Given the description of an element on the screen output the (x, y) to click on. 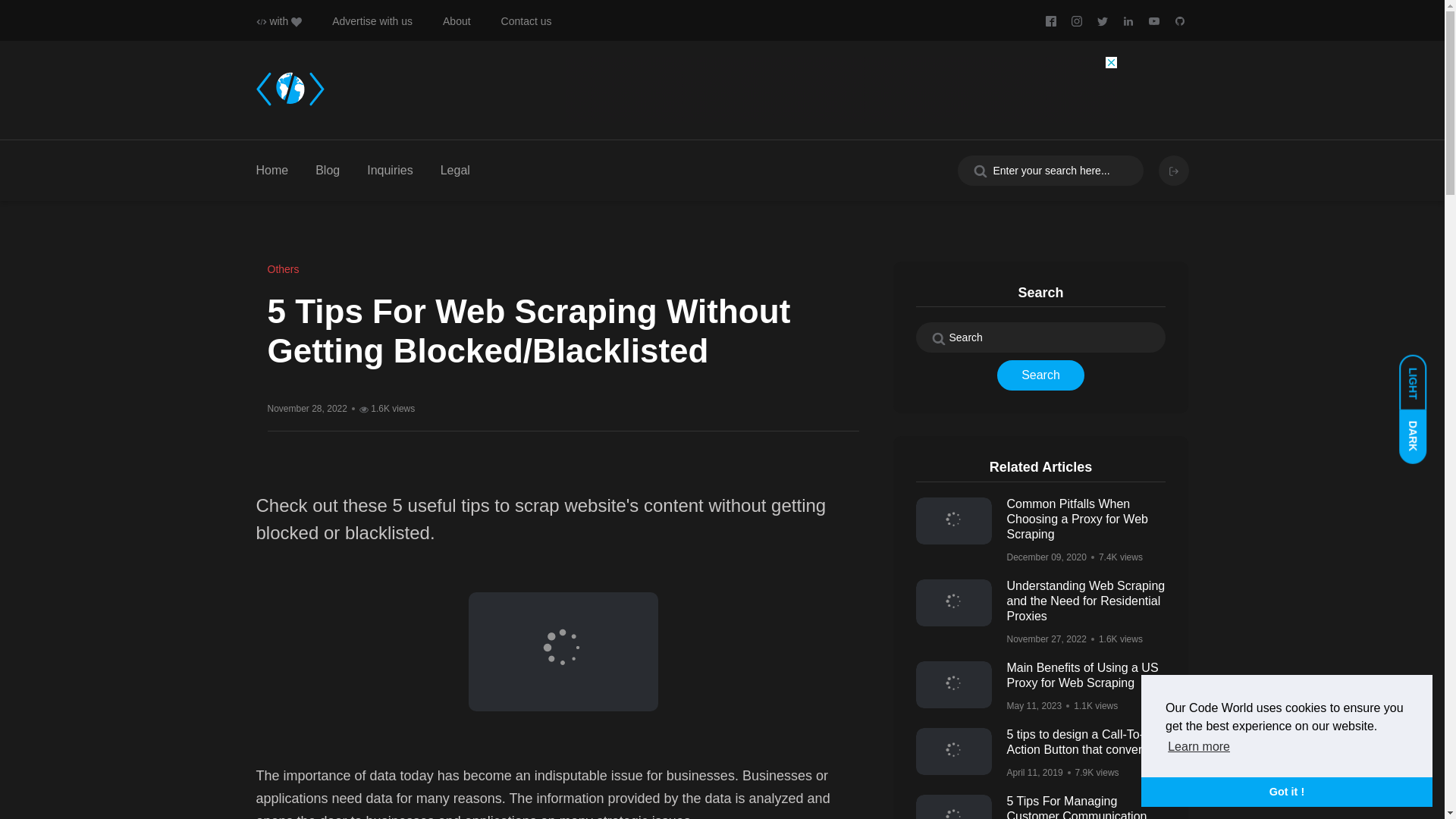
1,601 views (386, 408)
Light mode (1420, 375)
Learn more (1198, 746)
Got it ! (1286, 791)
Advertise with us (371, 21)
3rd party ad content (842, 90)
Dark mode (1419, 428)
About (456, 21)
Contact us (525, 21)
with (279, 21)
